Given the description of an element on the screen output the (x, y) to click on. 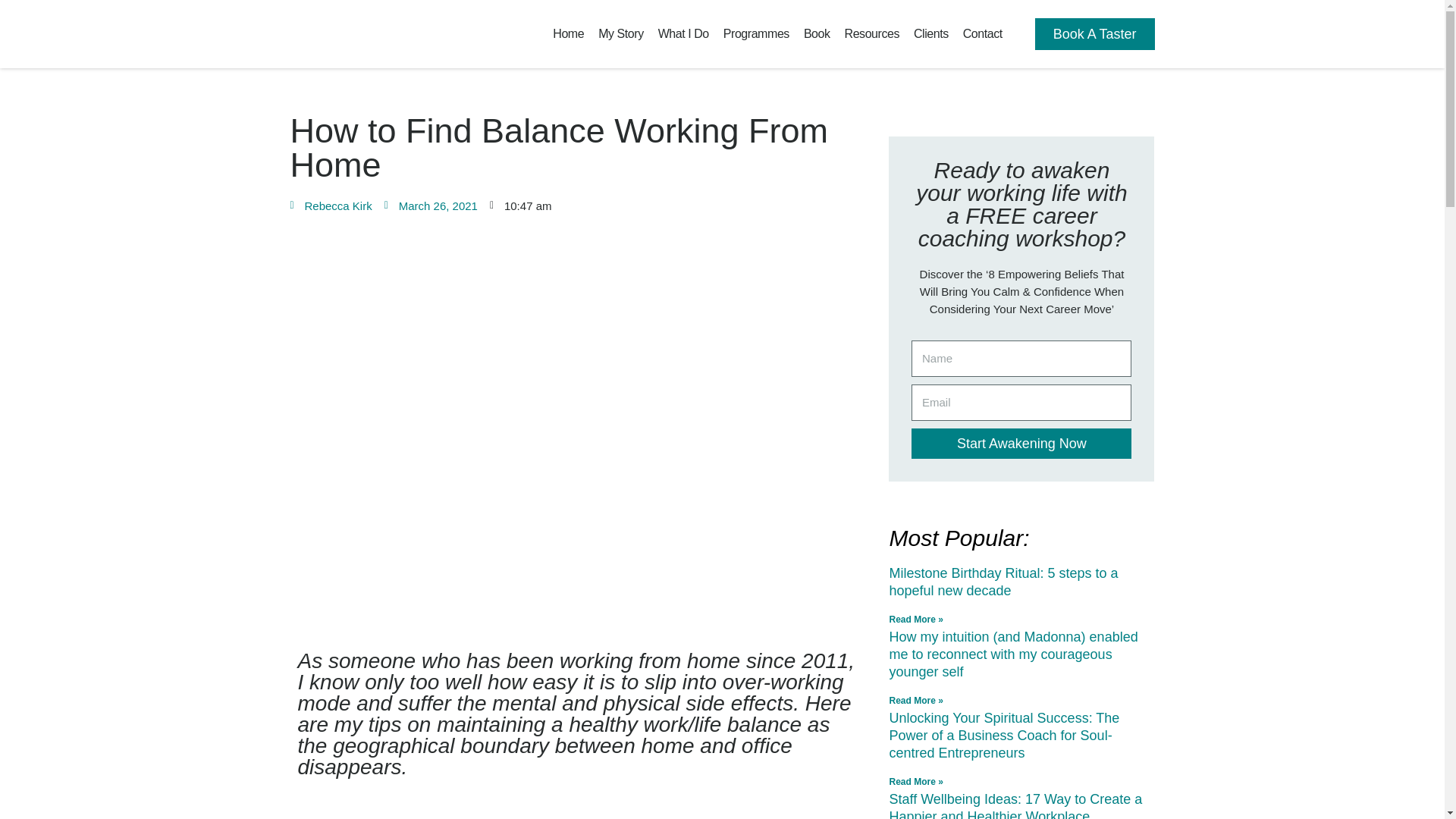
Home (568, 33)
Clients (930, 33)
My Story (620, 33)
Resources (872, 33)
Contact (982, 33)
What I Do (683, 33)
Book (817, 33)
Programmes (756, 33)
